Given the description of an element on the screen output the (x, y) to click on. 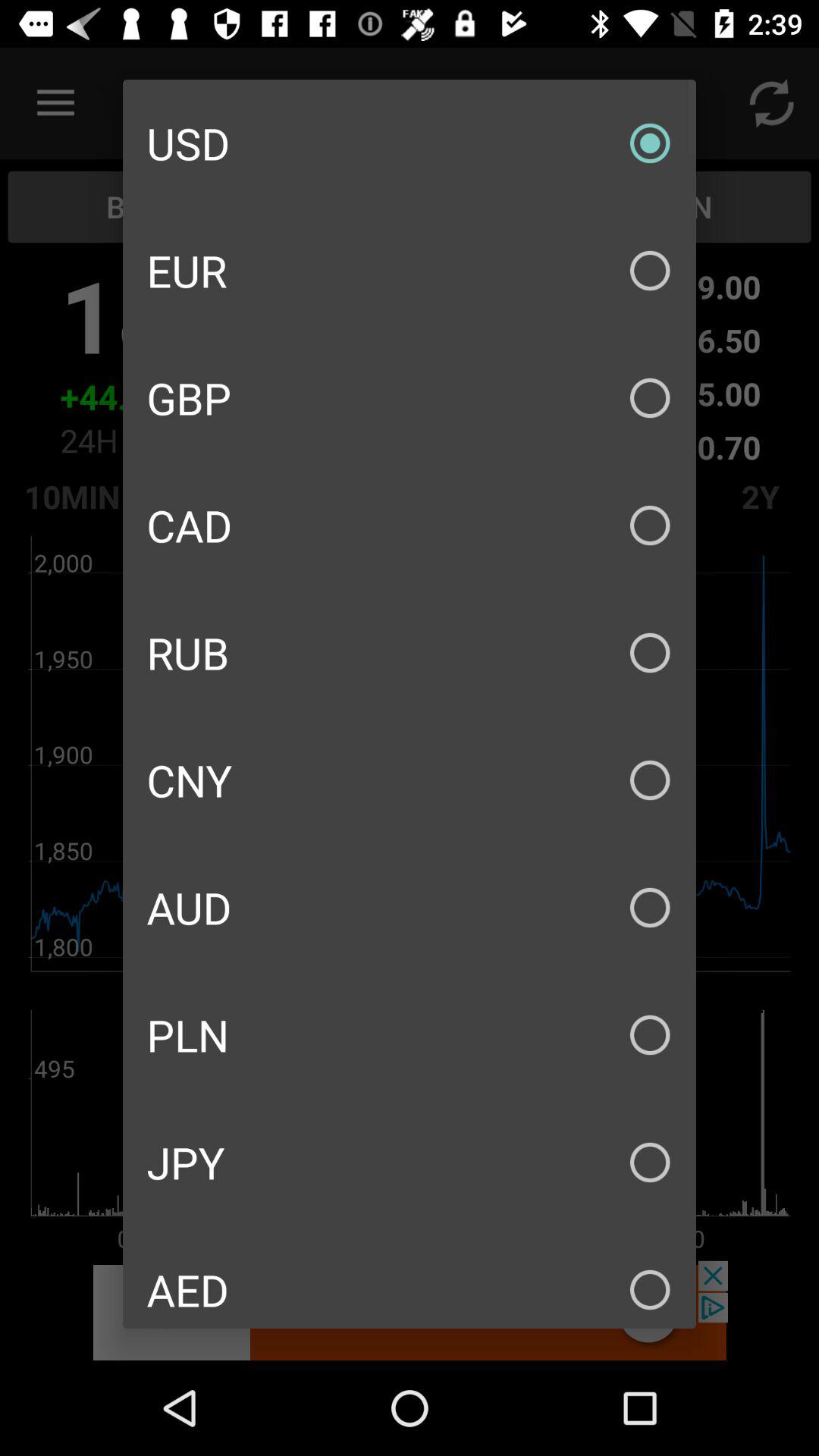
press item above the cad item (409, 397)
